Given the description of an element on the screen output the (x, y) to click on. 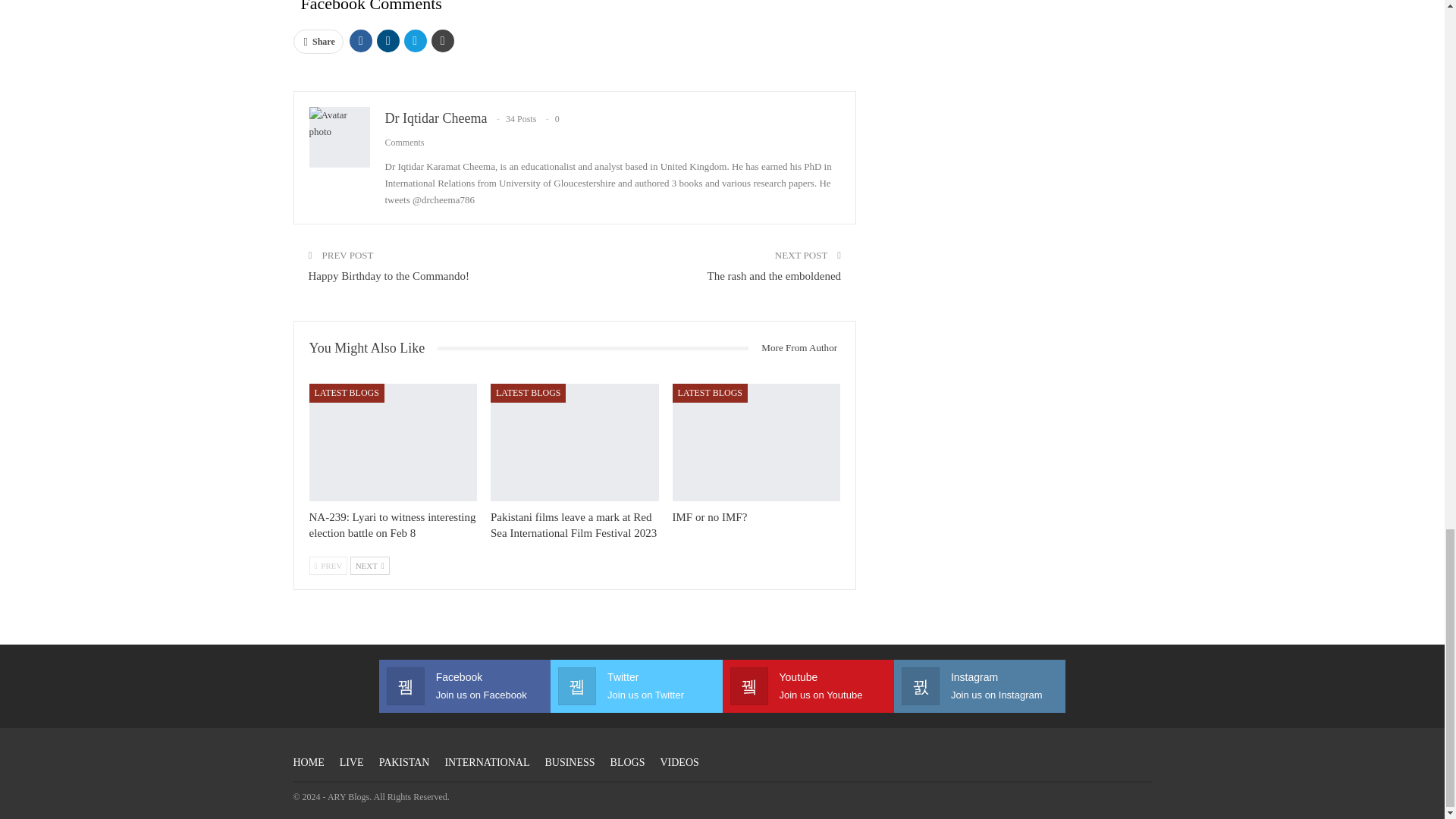
Next (370, 565)
IMF or no IMF? (756, 442)
Happy Birthday to the Commando! (387, 275)
The rash and the emboldened (773, 275)
IMF or no IMF? (710, 516)
Previous (327, 565)
Dr Iqtidar Cheema (436, 118)
